Given the description of an element on the screen output the (x, y) to click on. 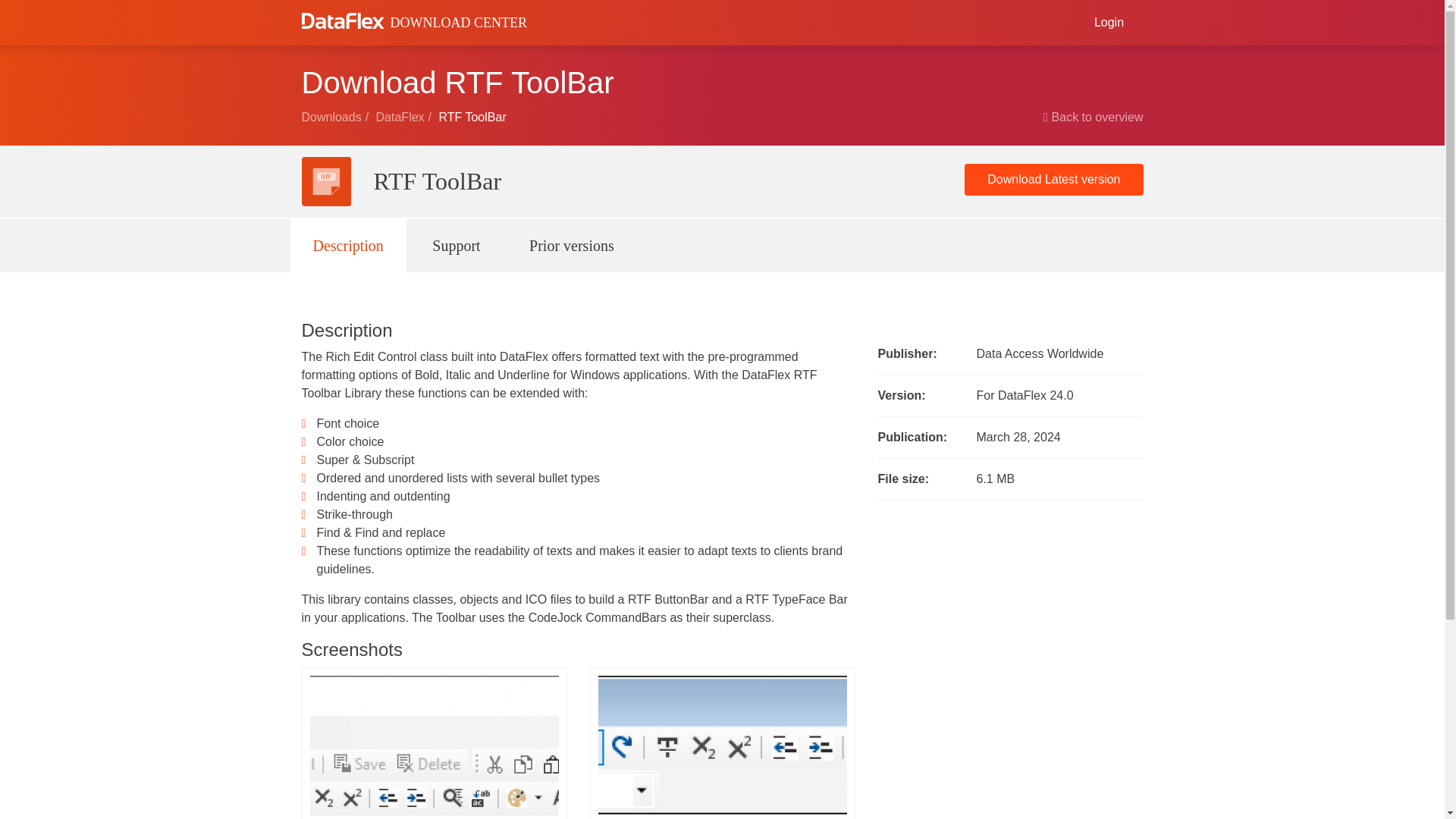
Prior versions (571, 245)
Login (1109, 22)
Support (455, 245)
Back to overview (1092, 117)
DataFlex (405, 116)
Download Latest version (1052, 179)
Description (347, 245)
Downloads (336, 116)
DOWNLOAD CENTER (414, 20)
